Given the description of an element on the screen output the (x, y) to click on. 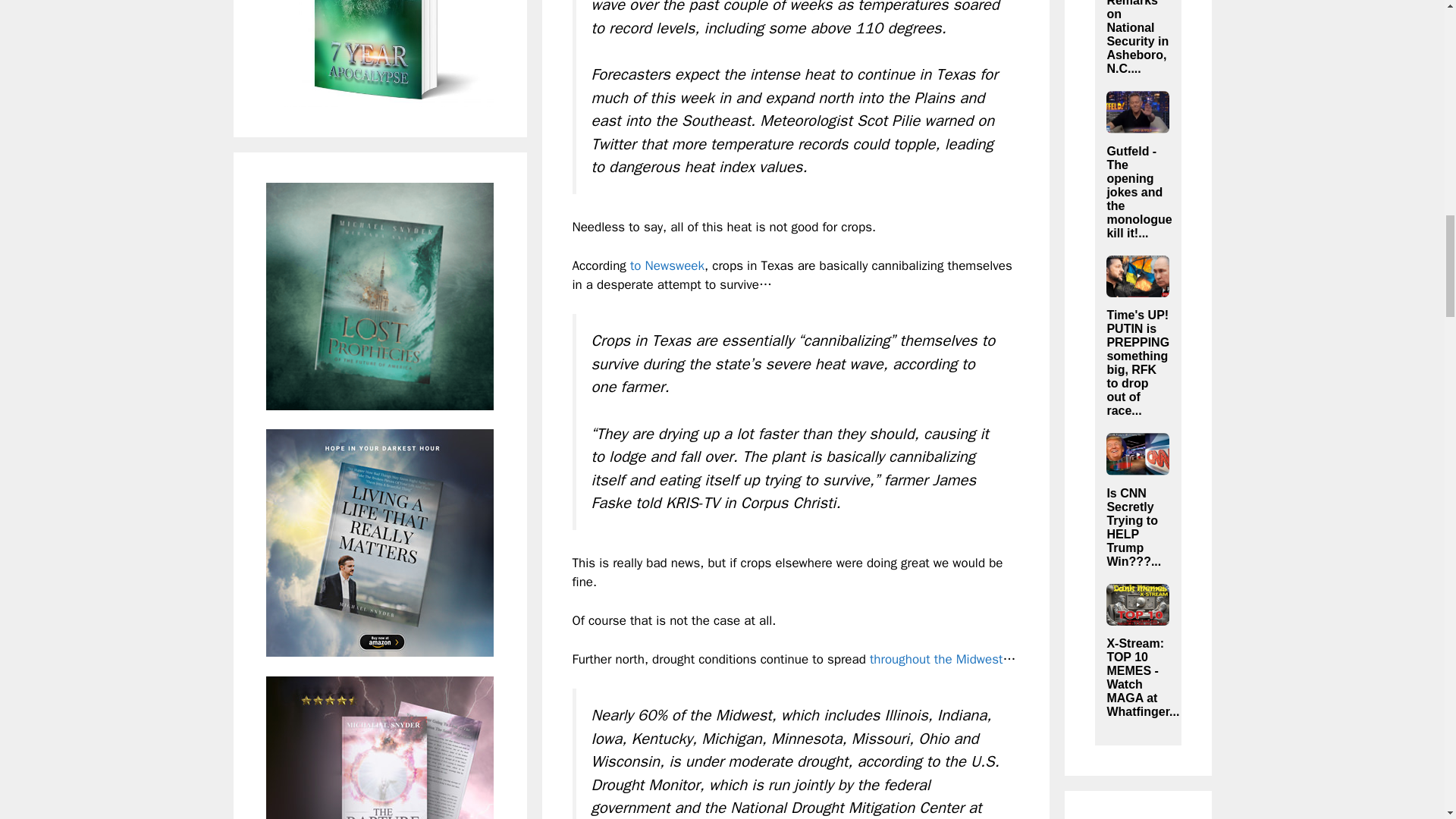
to Newsweek (667, 265)
throughout the Midwest (936, 659)
throughout the Midwest (936, 659)
to Newsweek (667, 265)
